Given the description of an element on the screen output the (x, y) to click on. 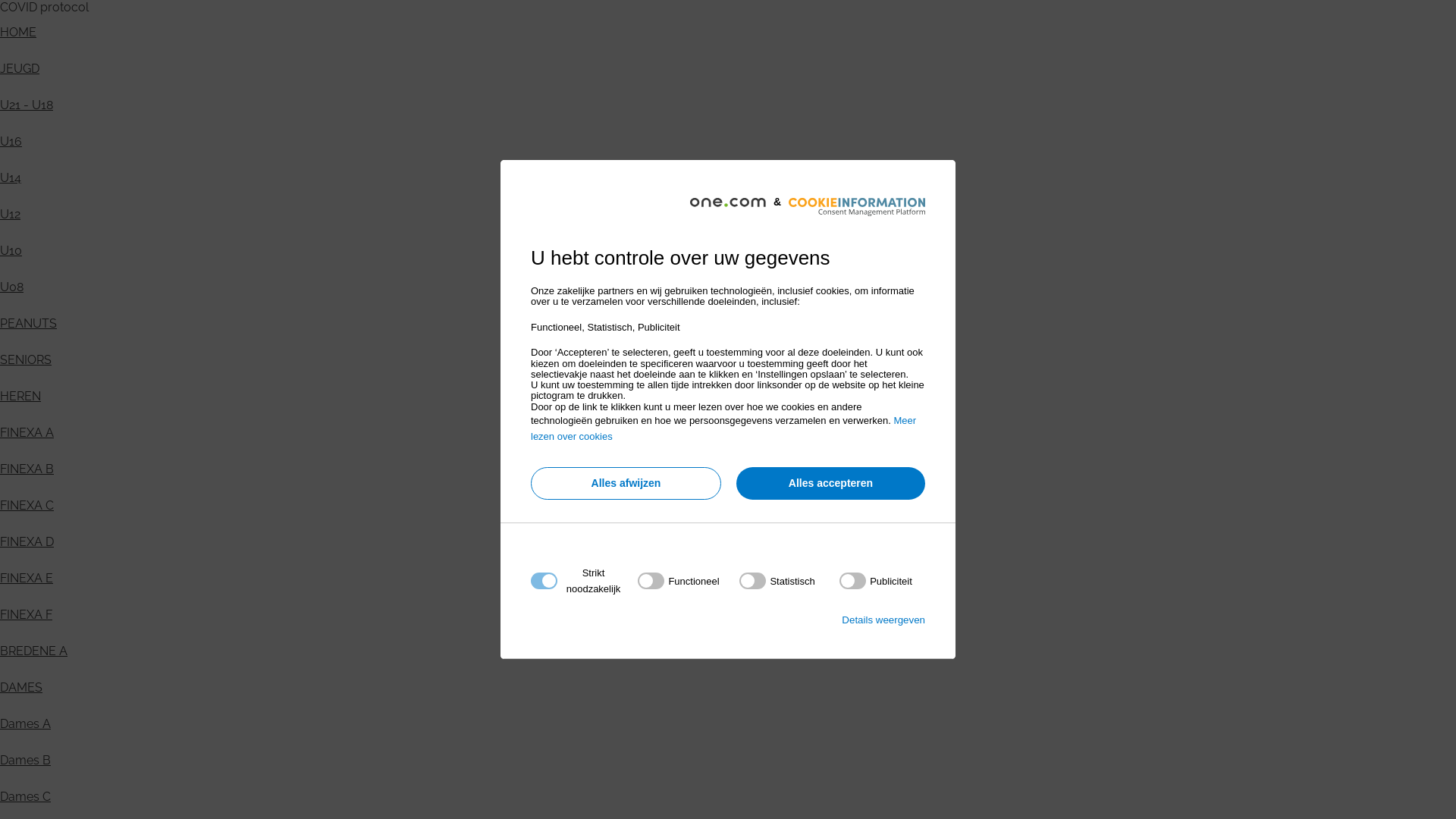
Alles accepteren Element type: text (830, 483)
BREDENE A Element type: text (33, 650)
FINEXA D Element type: text (26, 541)
U10 Element type: text (10, 250)
on Element type: text (875, 580)
Details weergeven Element type: text (883, 619)
HOME Element type: text (18, 32)
on Element type: text (776, 580)
Dames B Element type: text (25, 760)
Dames C Element type: text (25, 796)
Dames A Element type: text (25, 723)
U14 Element type: text (10, 177)
FINEXA E Element type: text (26, 578)
U21 - U18 Element type: text (26, 104)
HEREN Element type: text (20, 396)
FINEXA A Element type: text (26, 432)
U08 Element type: text (11, 286)
Alles afwijzen Element type: text (625, 483)
U12 Element type: text (10, 214)
SENIORS Element type: text (25, 359)
on Element type: text (677, 580)
FINEXA B Element type: text (26, 468)
Functioneel Element type: text (723, 763)
U16 Element type: text (10, 141)
JEUGD Element type: text (19, 68)
FINEXA F Element type: text (26, 614)
PEANUTS Element type: text (28, 323)
FINEXA C Element type: text (26, 505)
Meer lezen over cookies Element type: text (723, 428)
DAMES Element type: text (21, 687)
Strikt noodzakelijk Element type: text (723, 673)
